Given the description of an element on the screen output the (x, y) to click on. 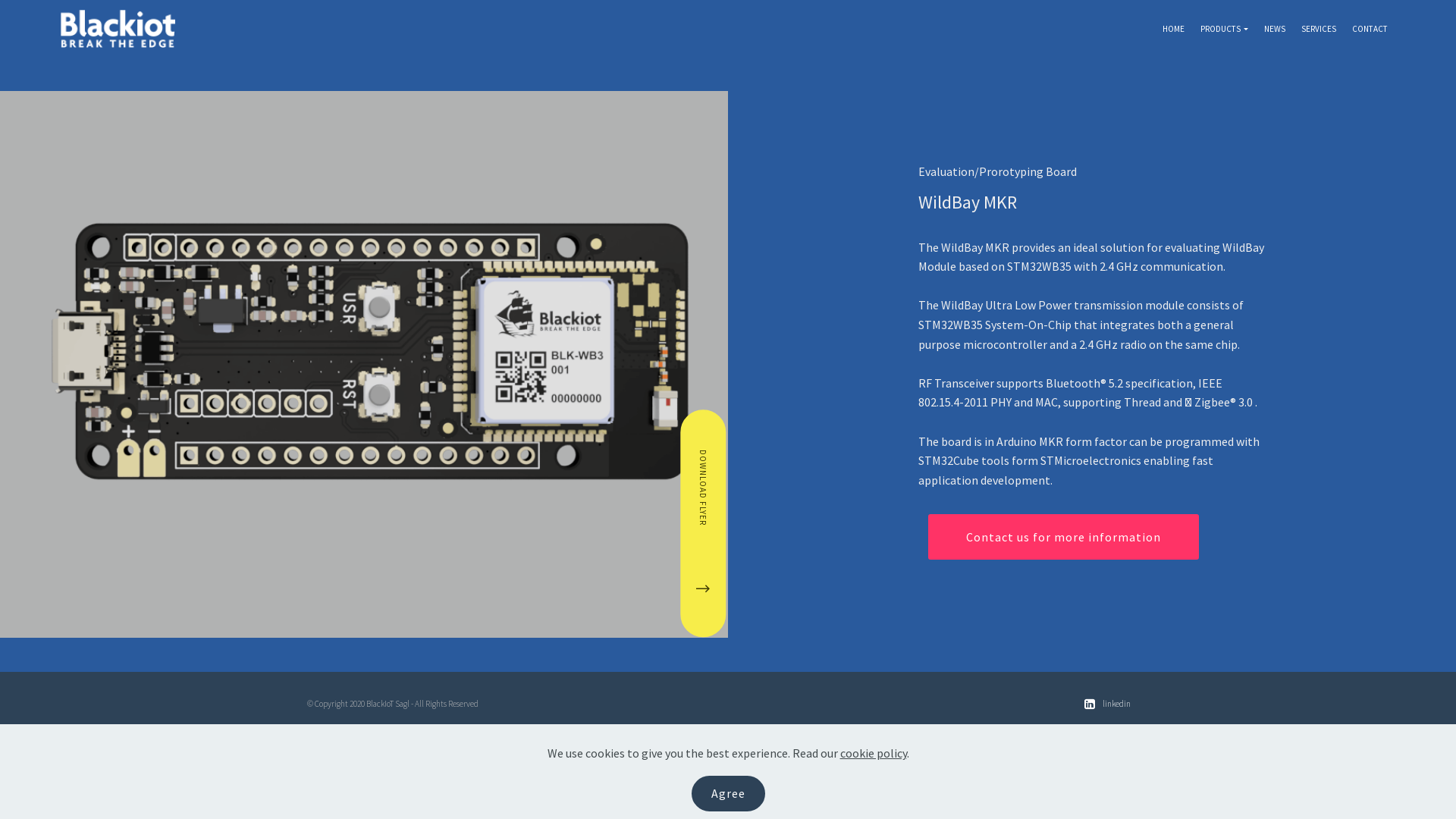
Agree Element type: text (728, 793)
CONTACT Element type: text (1369, 29)
NEWS Element type: text (1274, 29)
PRODUCTS Element type: text (1224, 29)
Contact us for more information Element type: text (1063, 536)
DOWNLOAD FLYER Element type: text (793, 432)
HOME Element type: text (1173, 29)
linkedin Element type: text (1116, 703)
SERVICES Element type: text (1318, 29)
cookie policy Element type: text (873, 752)
